Given the description of an element on the screen output the (x, y) to click on. 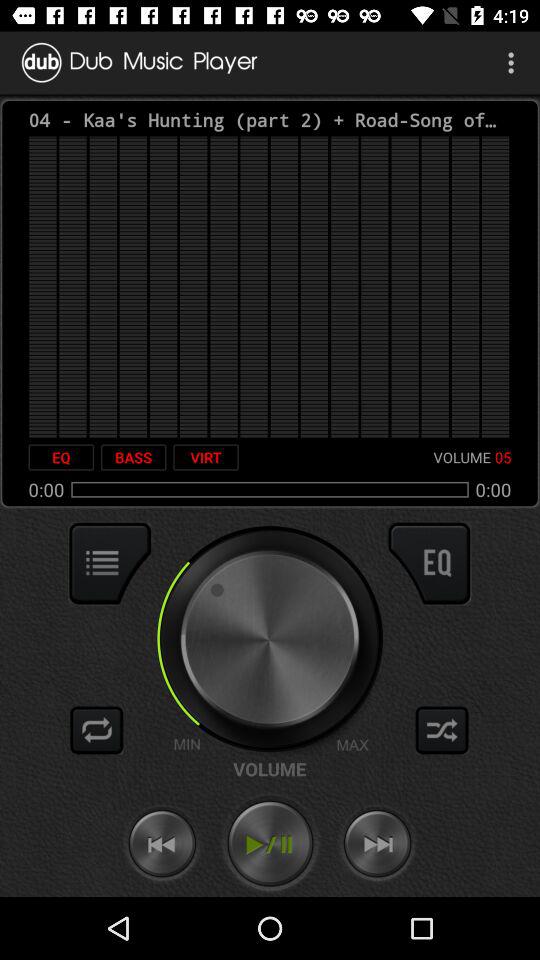
press icon next to  virt  icon (133, 457)
